Given the description of an element on the screen output the (x, y) to click on. 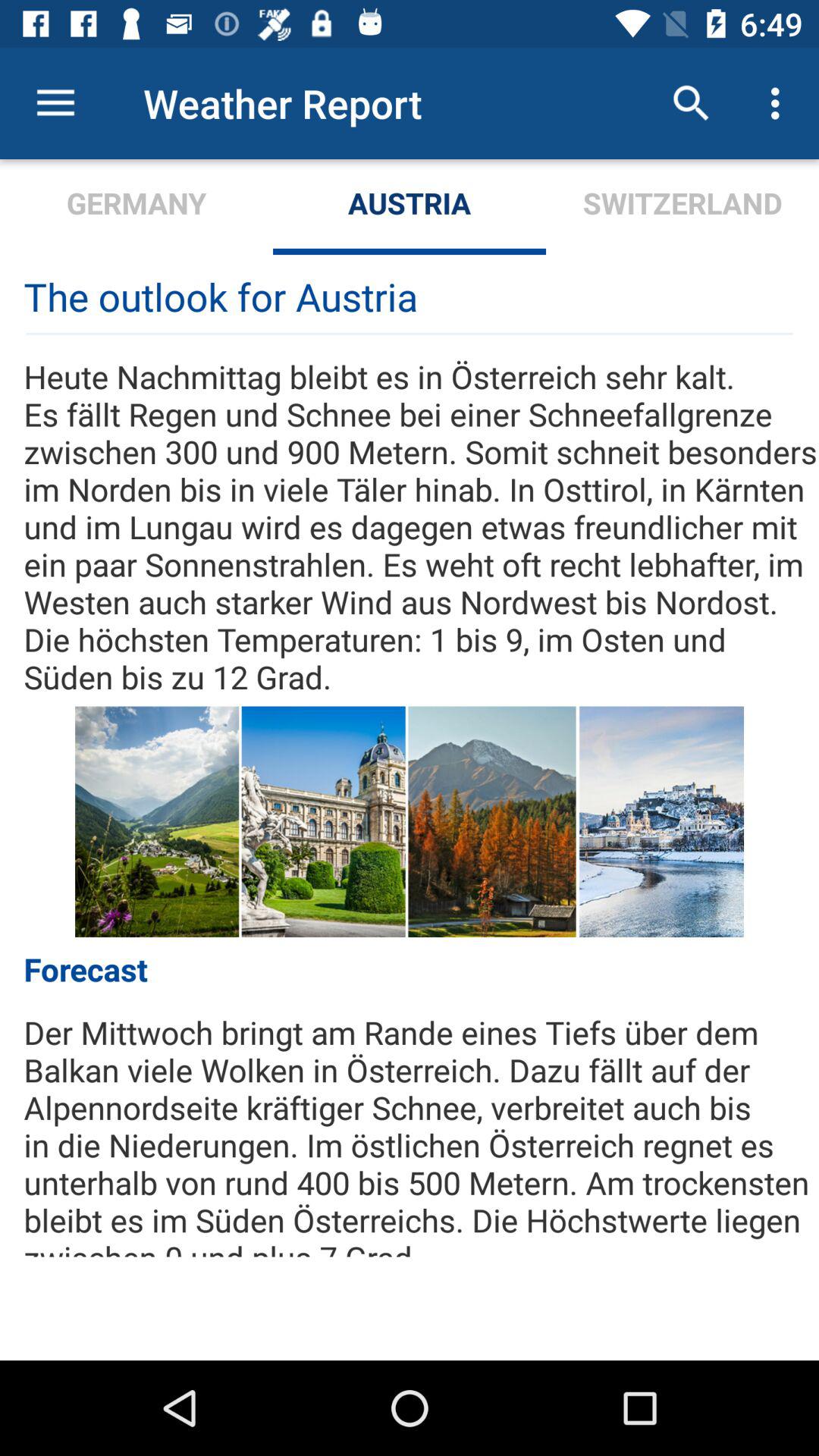
click the item next to the austria icon (691, 103)
